Given the description of an element on the screen output the (x, y) to click on. 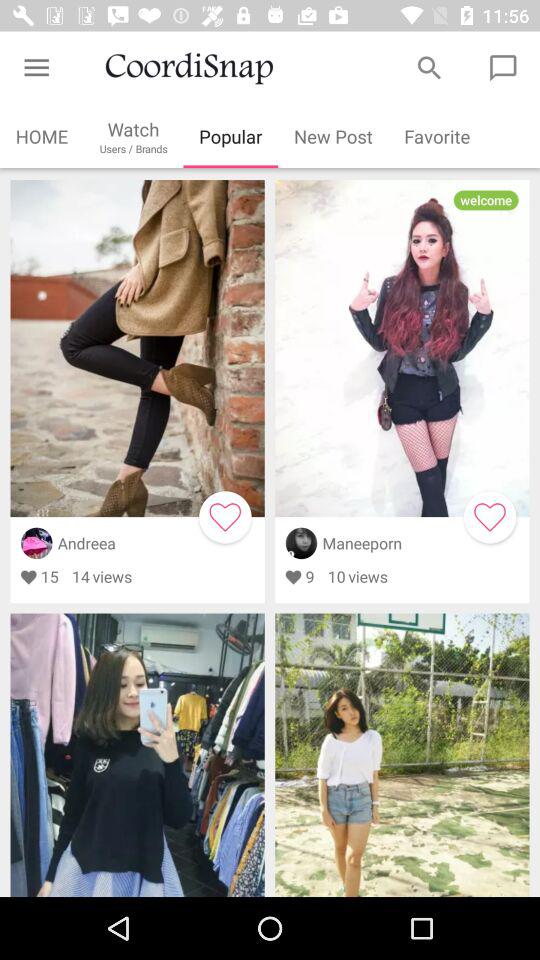
like this listing (489, 517)
